Given the description of an element on the screen output the (x, y) to click on. 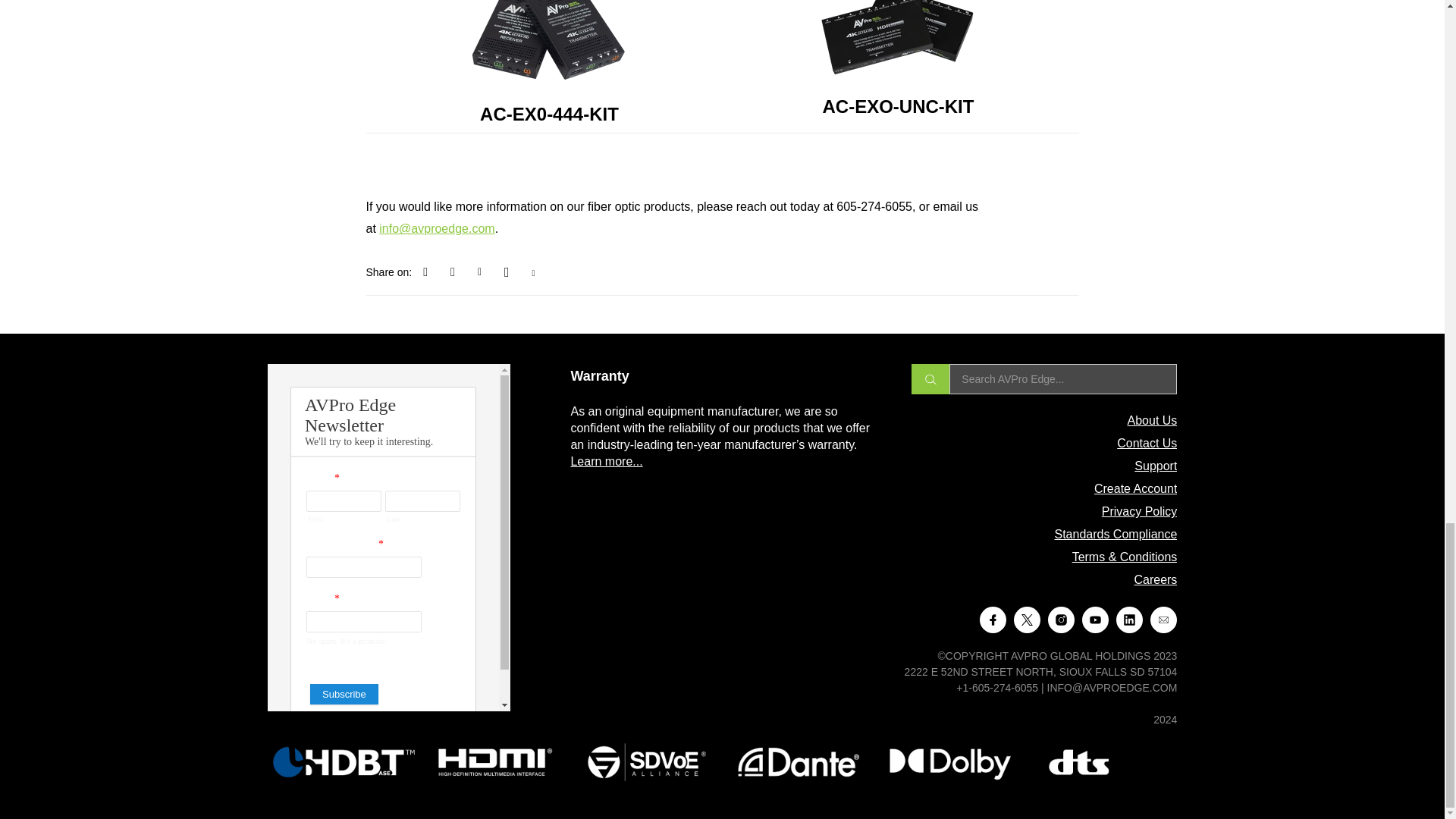
Careers (1155, 579)
